Given the description of an element on the screen output the (x, y) to click on. 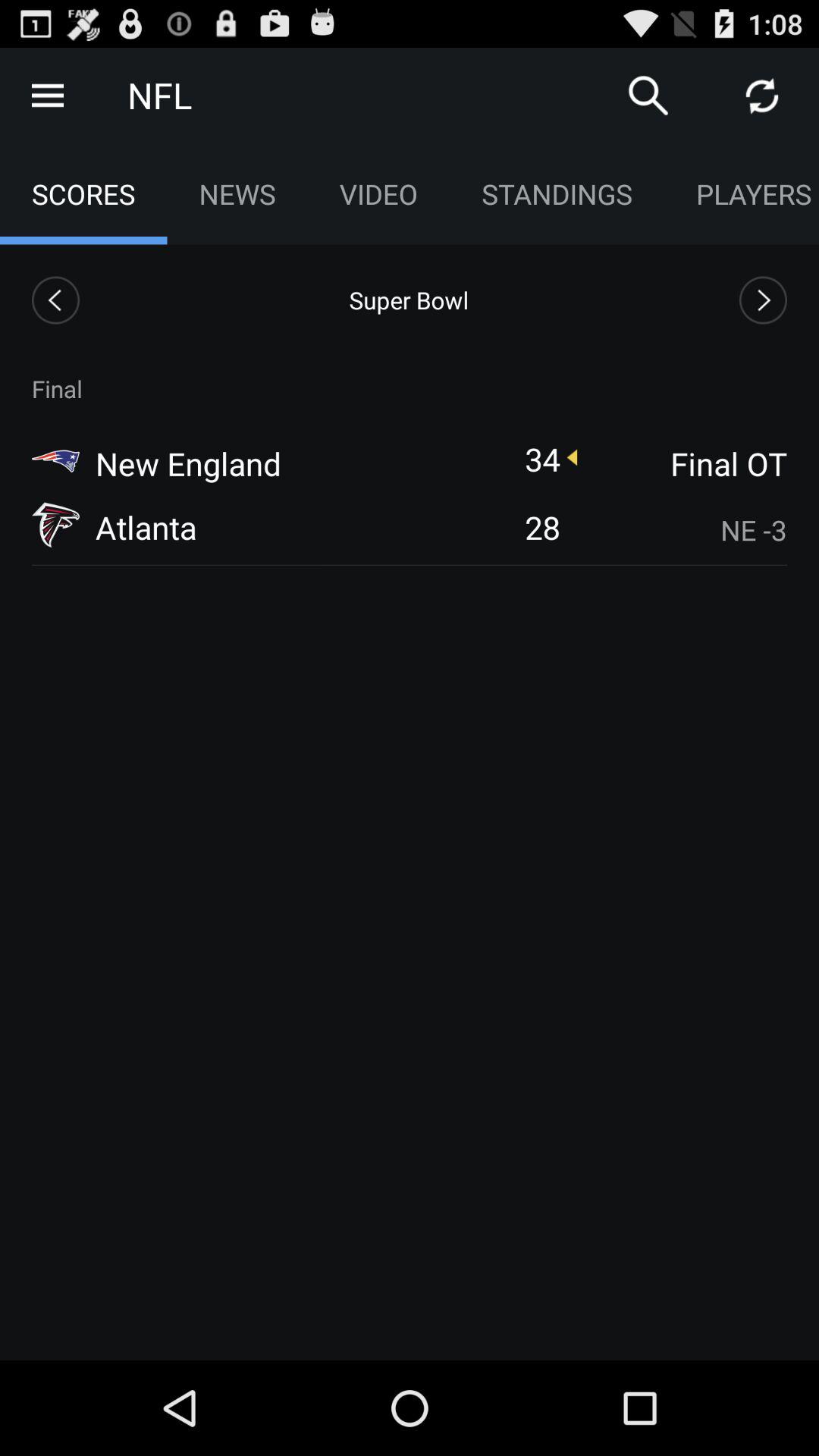
select options (47, 95)
